Given the description of an element on the screen output the (x, y) to click on. 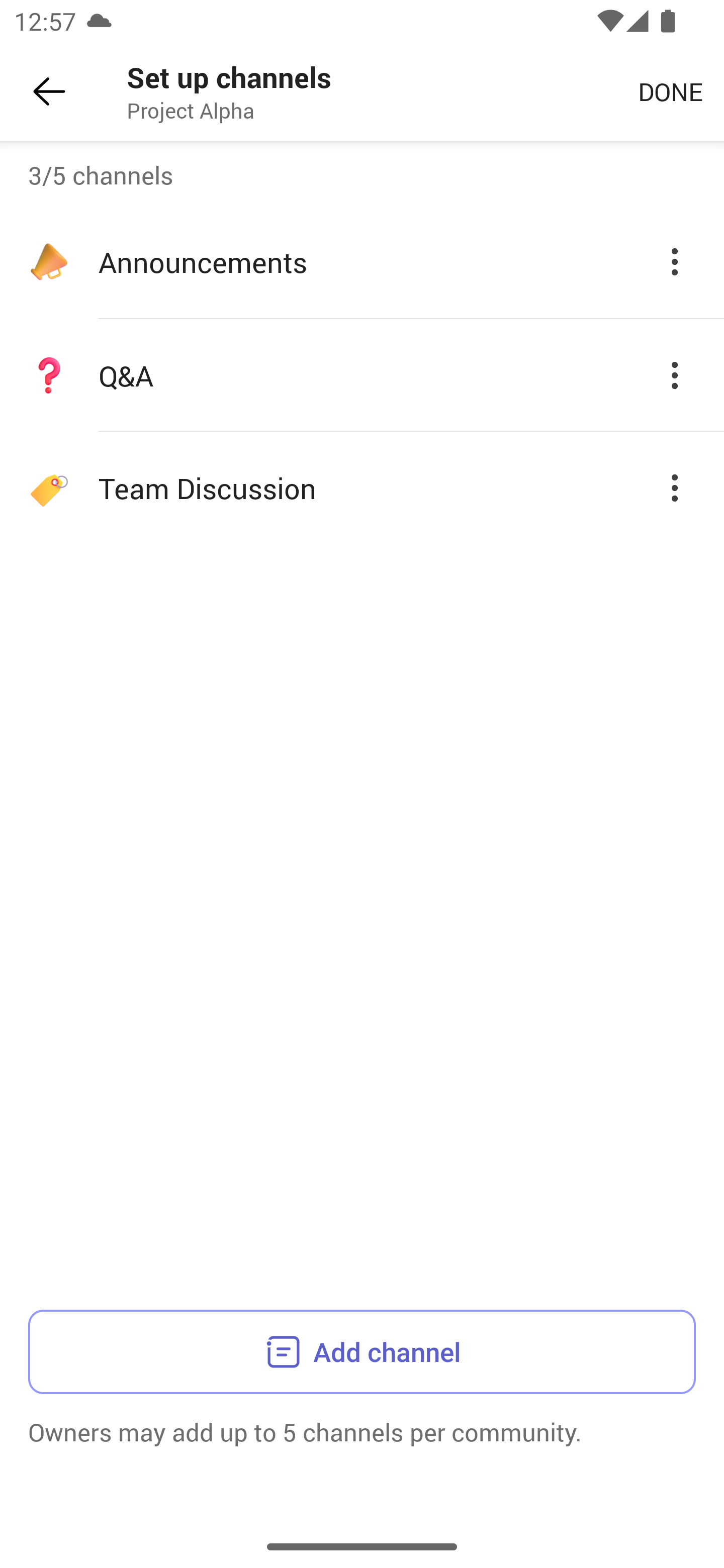
Back (49, 91)
DONE (670, 90)
Channel options for Announcements (674, 261)
Channel options for Q&A (674, 375)
Channel options for Team Discussion (674, 487)
Add channel (361, 1351)
